Given the description of an element on the screen output the (x, y) to click on. 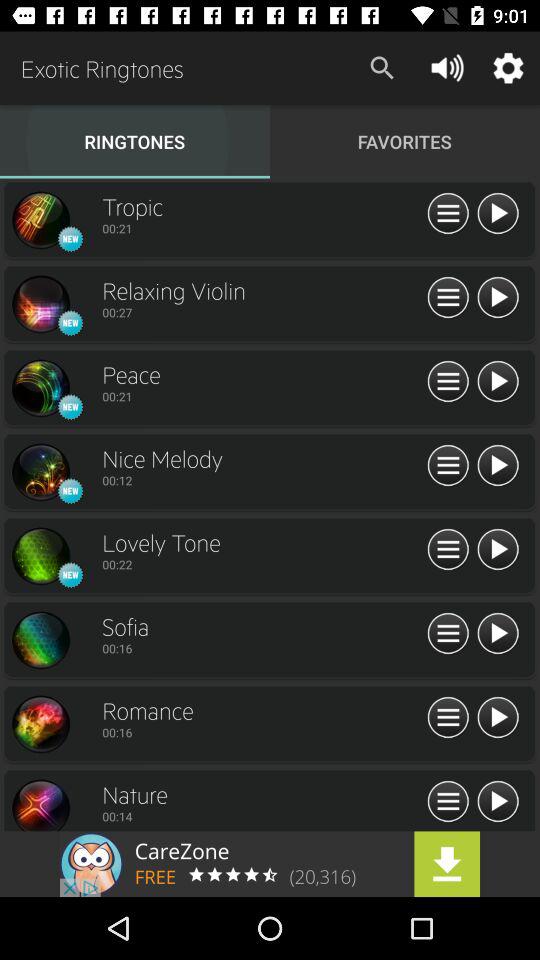
more options (447, 213)
